Given the description of an element on the screen output the (x, y) to click on. 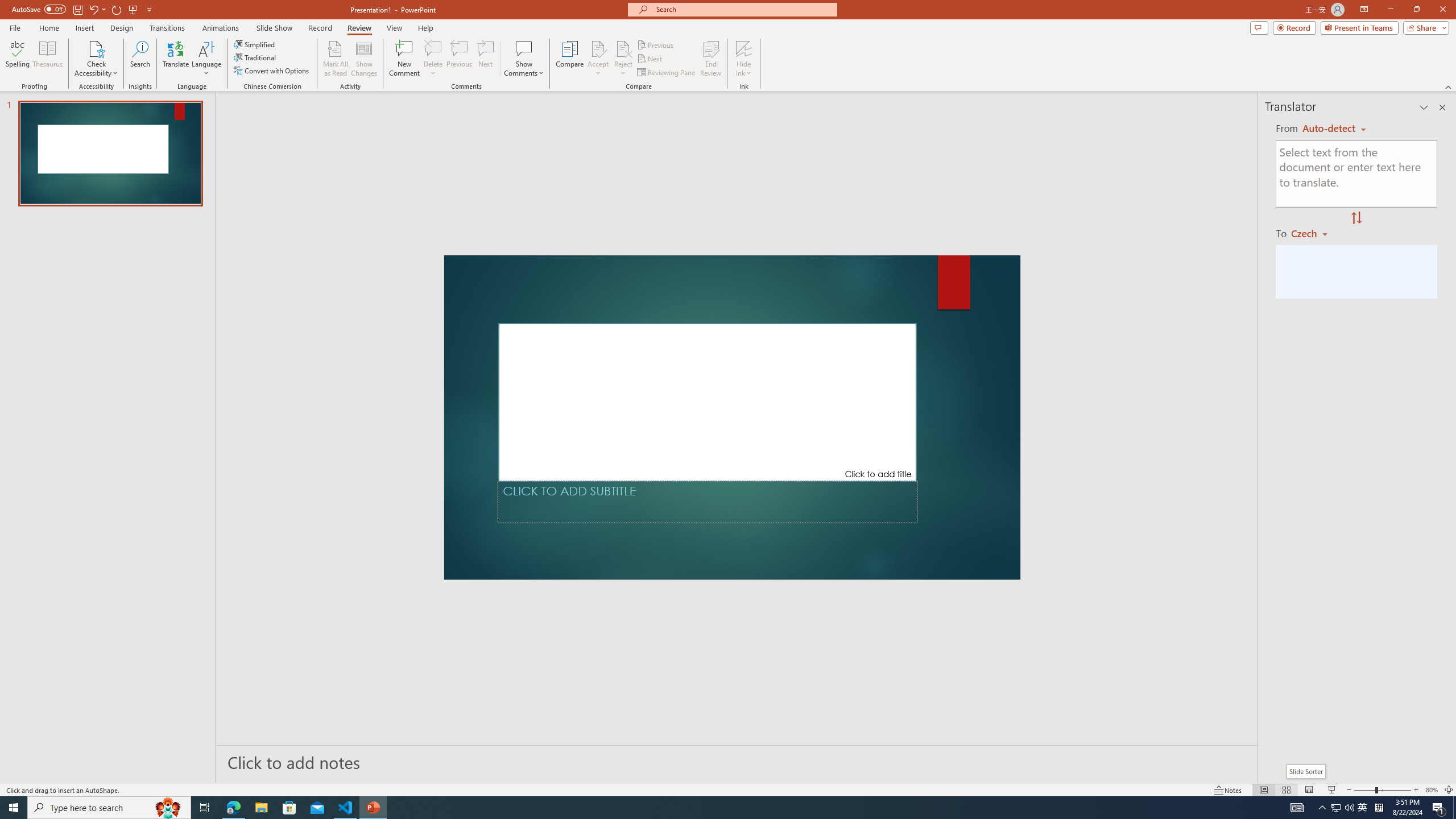
Close pane (1441, 107)
Czech (1313, 232)
Reject (622, 58)
Next (649, 58)
Mark All as Read (335, 58)
Reject Change (622, 48)
Notes  (1227, 790)
